Given the description of an element on the screen output the (x, y) to click on. 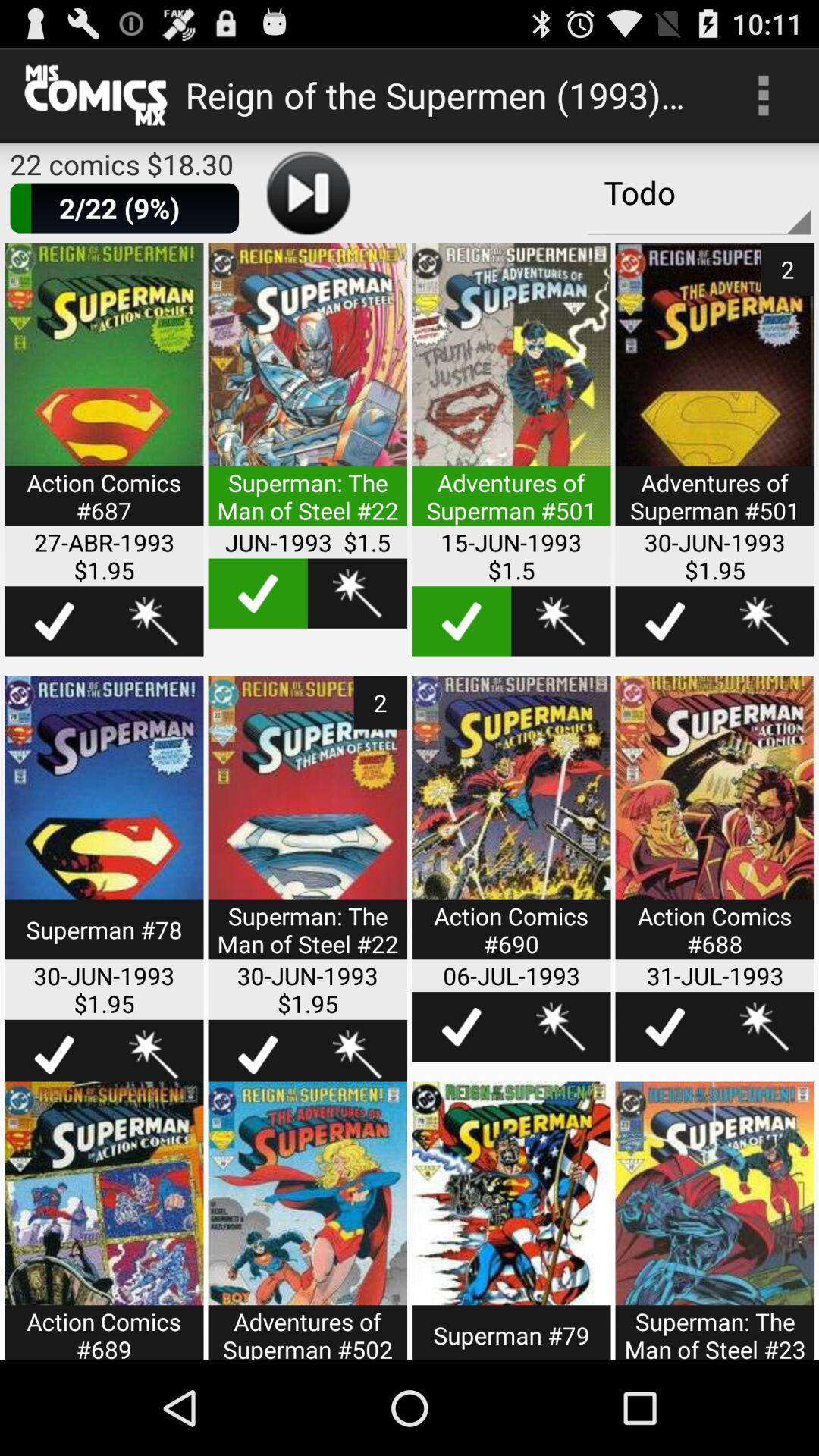
select option (510, 393)
